Given the description of an element on the screen output the (x, y) to click on. 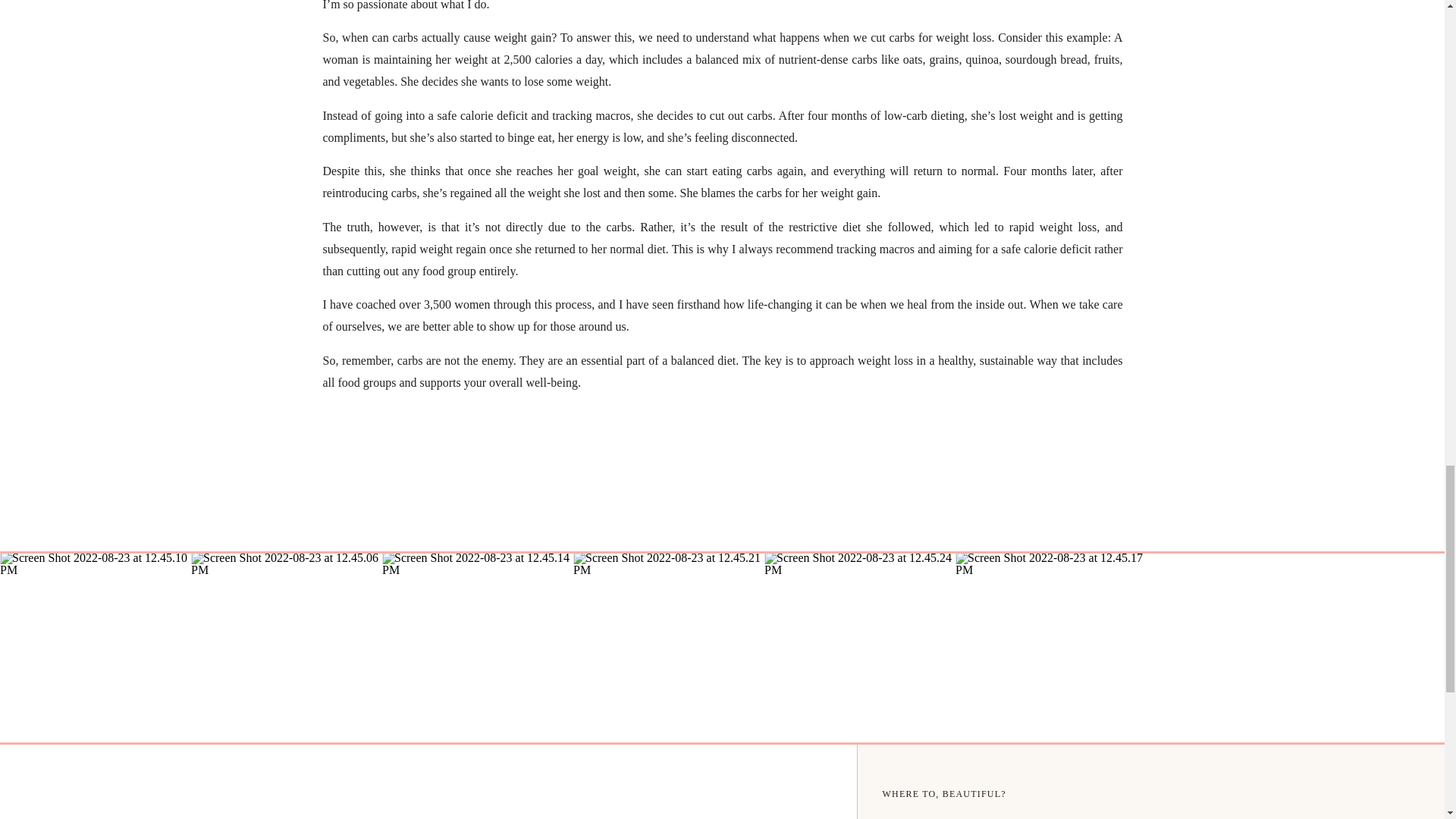
Screen Shot 2022-08-23 at 12.45.14 PM (477, 647)
Home (1009, 816)
Screen Shot 2022-08-23 at 12.45.21 PM (668, 647)
Screen Shot 2022-08-23 at 12.45.06 PM (285, 647)
WHERE TO, BEAUTIFUL? (1011, 793)
Screen Shot 2022-08-23 at 12.45.24 PM (859, 647)
Screen Shot 2022-08-23 at 12.45.10 PM (95, 647)
Screen Shot 2022-08-23 at 12.45.17 PM (1051, 647)
